Given the description of an element on the screen output the (x, y) to click on. 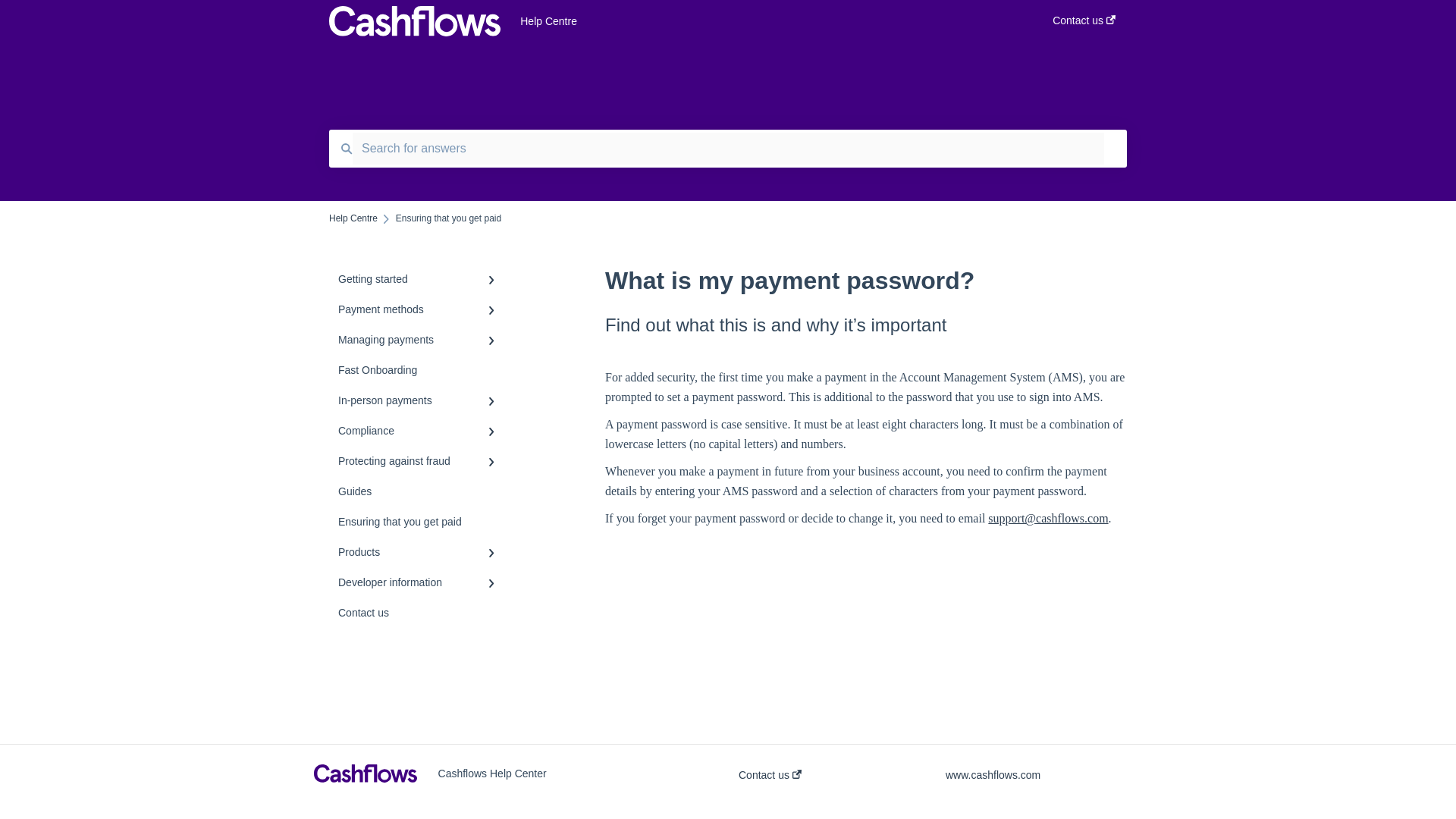
Contact us (1083, 25)
Help Centre (353, 217)
Help Centre (763, 21)
